Given the description of an element on the screen output the (x, y) to click on. 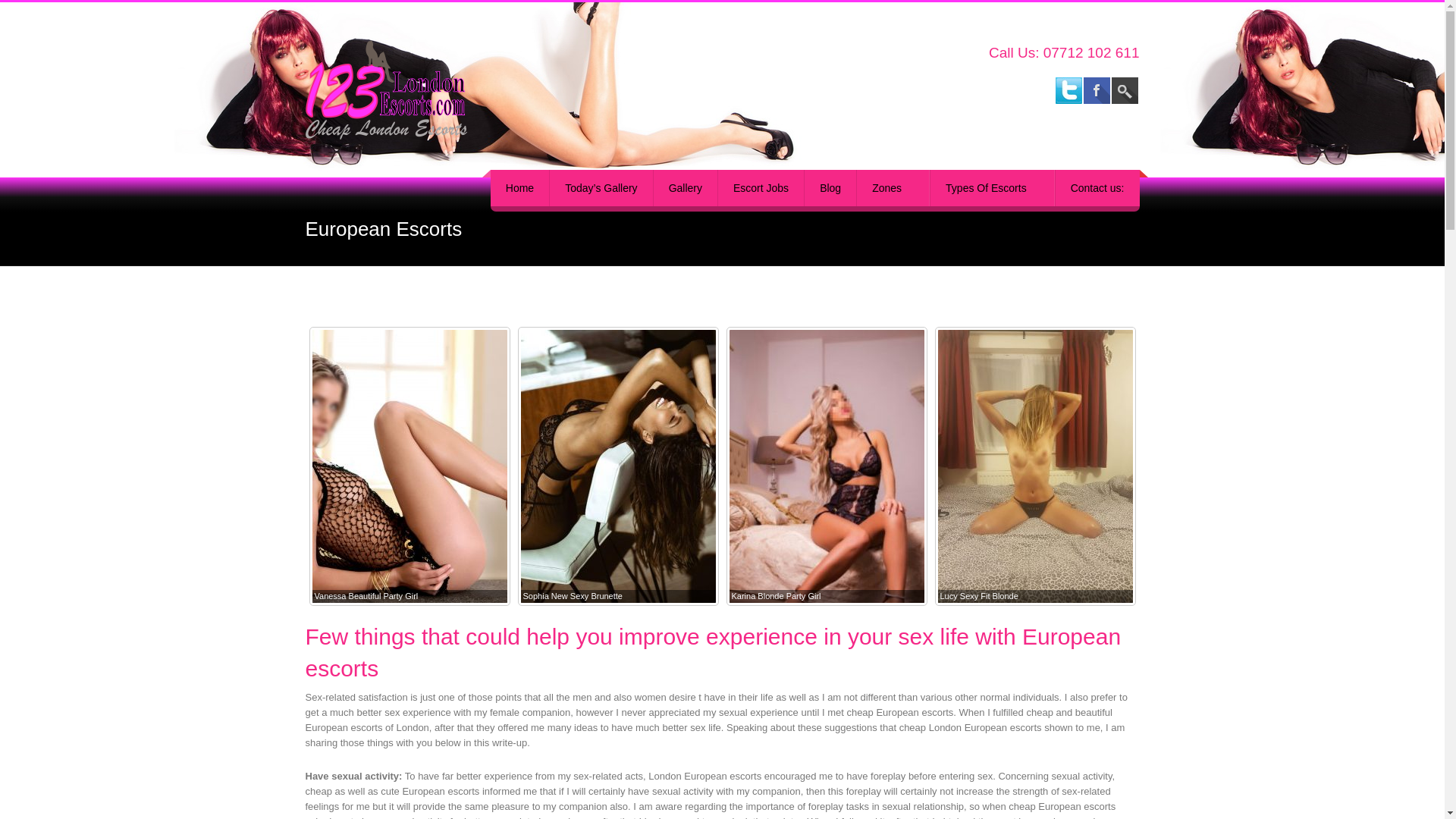
123 London Escorts (429, 89)
Blog (829, 187)
Gallery (684, 187)
Zones (893, 187)
Home (519, 187)
Escort Jobs (760, 187)
Call Us: 07712 102 611 (1064, 52)
